Given the description of an element on the screen output the (x, y) to click on. 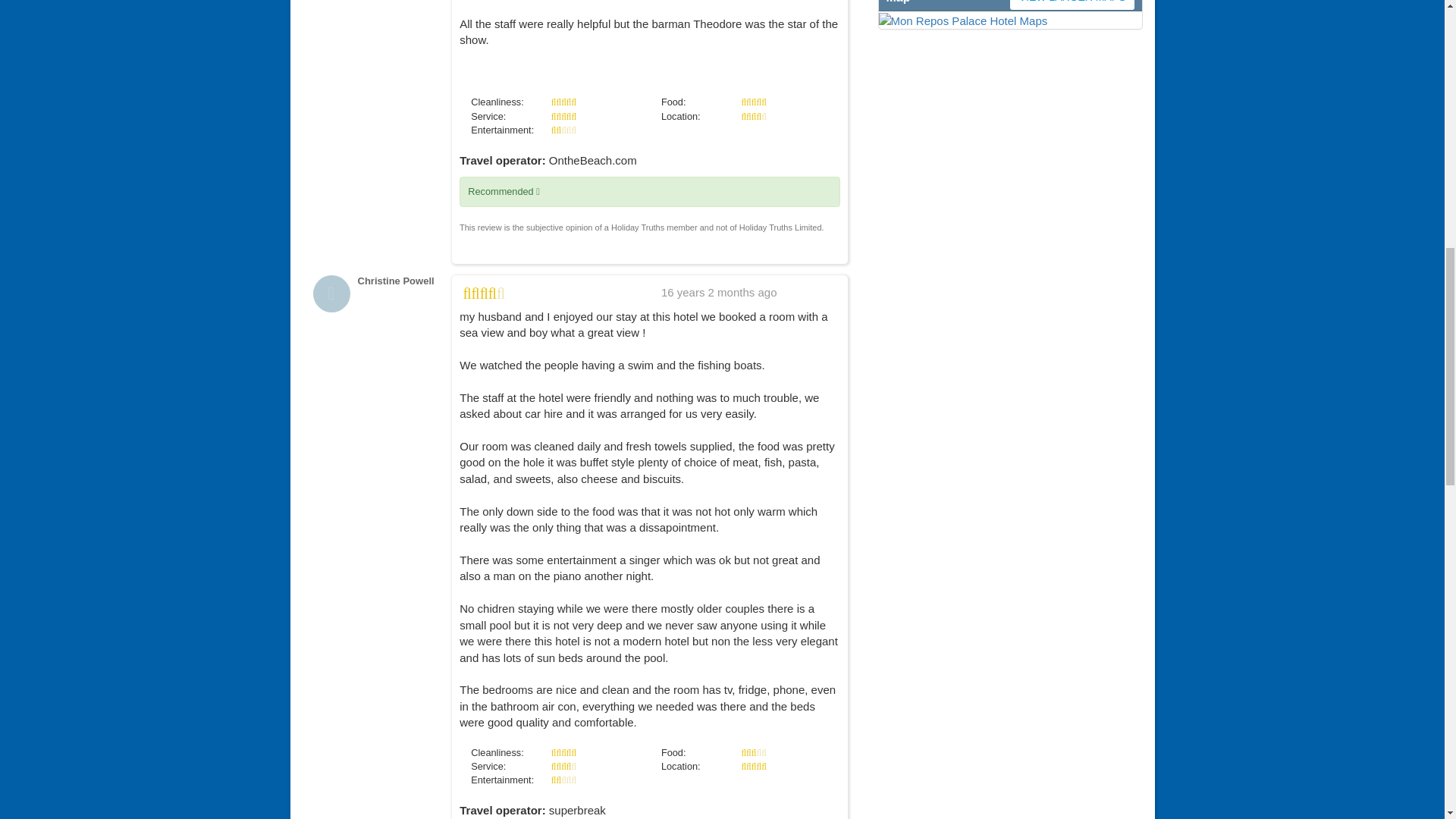
Excellent (563, 101)
Excellent (753, 766)
Average (563, 779)
VIEW LARGER MAPS (1009, 19)
Good (753, 752)
Very Good (563, 766)
Excellent (753, 101)
Average (563, 129)
Excellent (563, 116)
Very Good (753, 116)
Excellent (563, 752)
Very Good (484, 294)
